Given the description of an element on the screen output the (x, y) to click on. 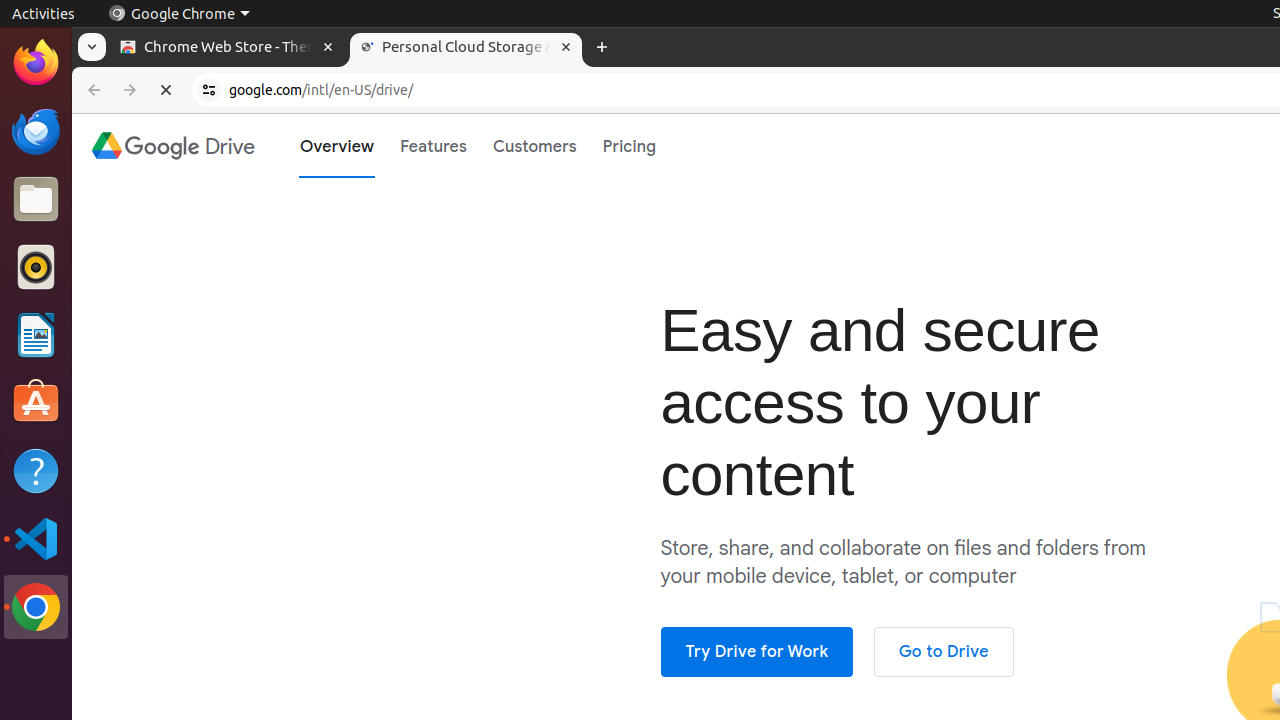
Visual Studio Code Element type: push-button (36, 538)
Personal Cloud Storage & File Sharing Platform - Google Element type: page-tab (466, 47)
Customers Element type: link (535, 146)
View site information Element type: push-button (209, 90)
Thunderbird Mail Element type: push-button (36, 131)
